Given the description of an element on the screen output the (x, y) to click on. 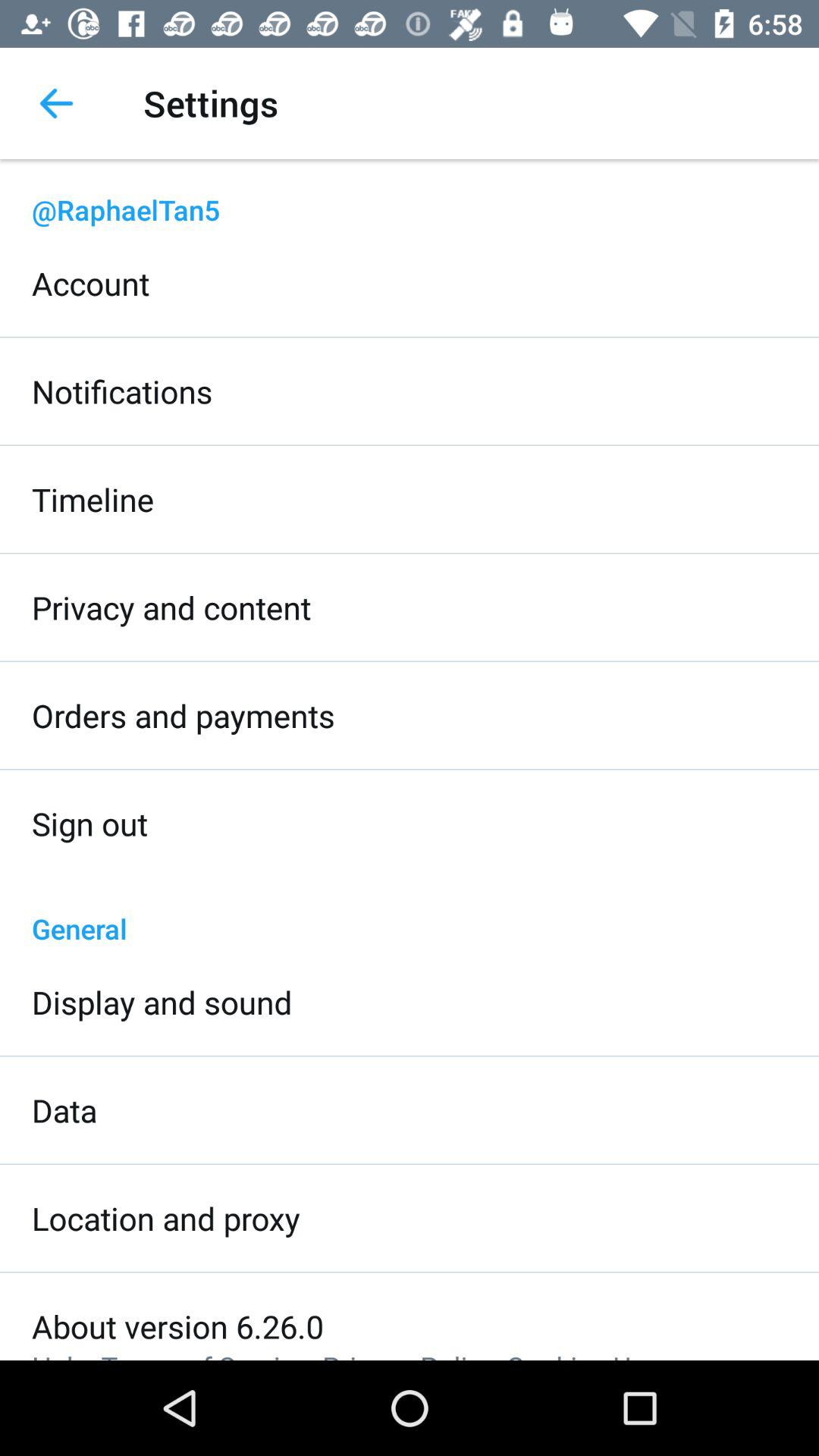
flip to the data icon (64, 1109)
